Given the description of an element on the screen output the (x, y) to click on. 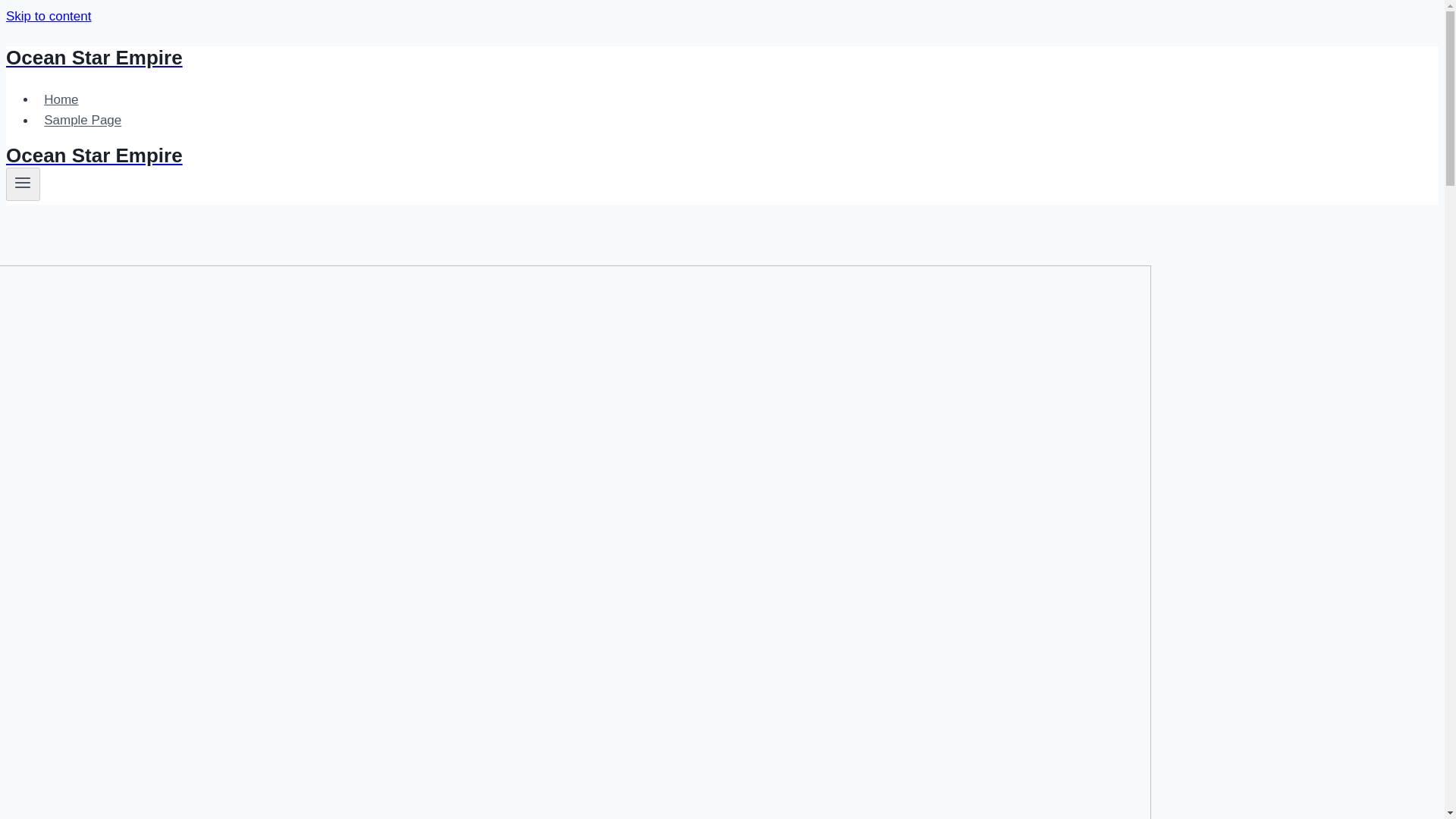
Skip to content (47, 16)
Toggle Menu (22, 182)
Sample Page (82, 120)
Toggle Menu (22, 183)
Skip to content (47, 16)
Ocean Star Empire (494, 57)
Home (60, 99)
Ocean Star Empire (494, 155)
